Given the description of an element on the screen output the (x, y) to click on. 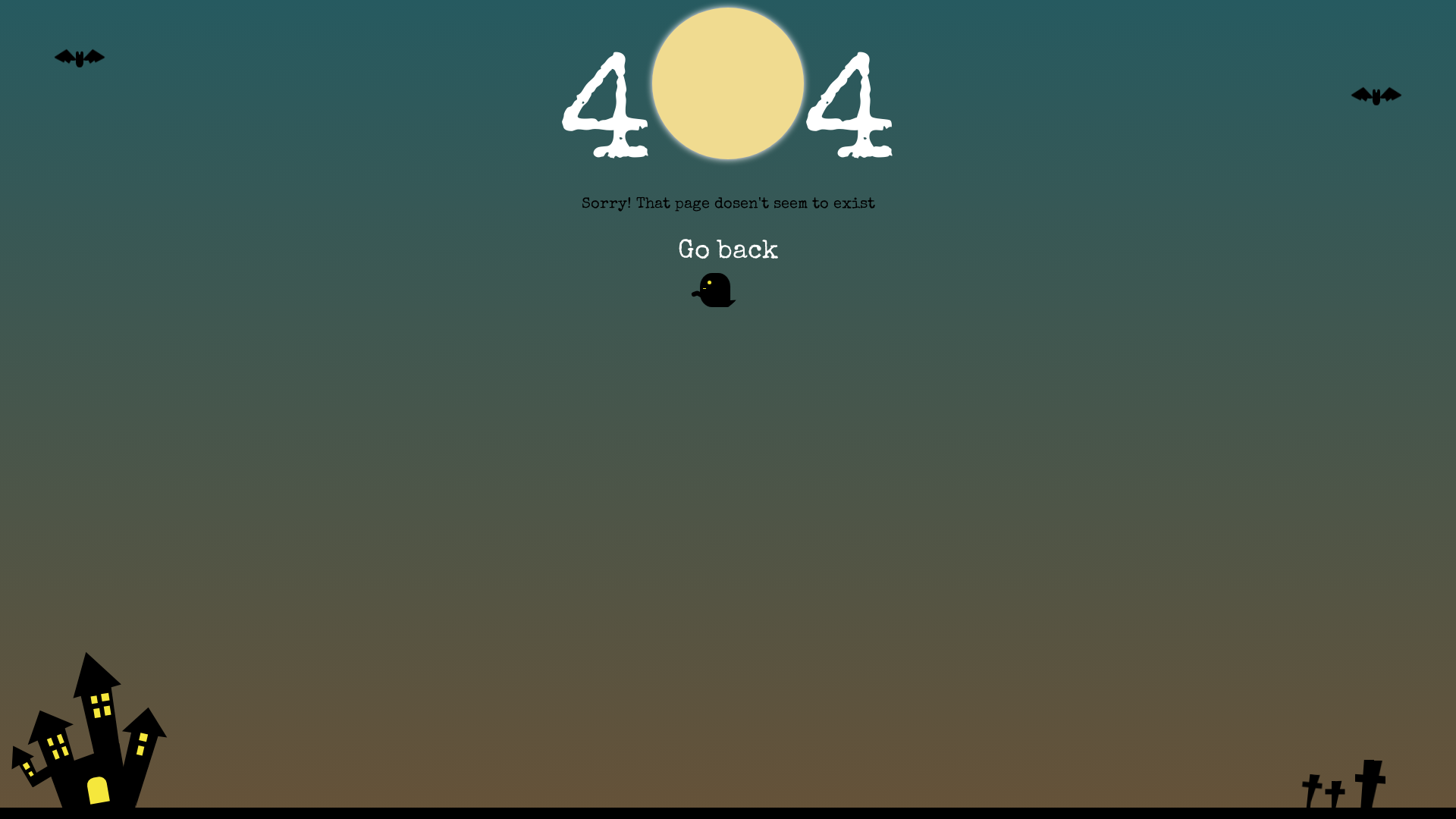
Go back Element type: text (727, 251)
